Given the description of an element on the screen output the (x, y) to click on. 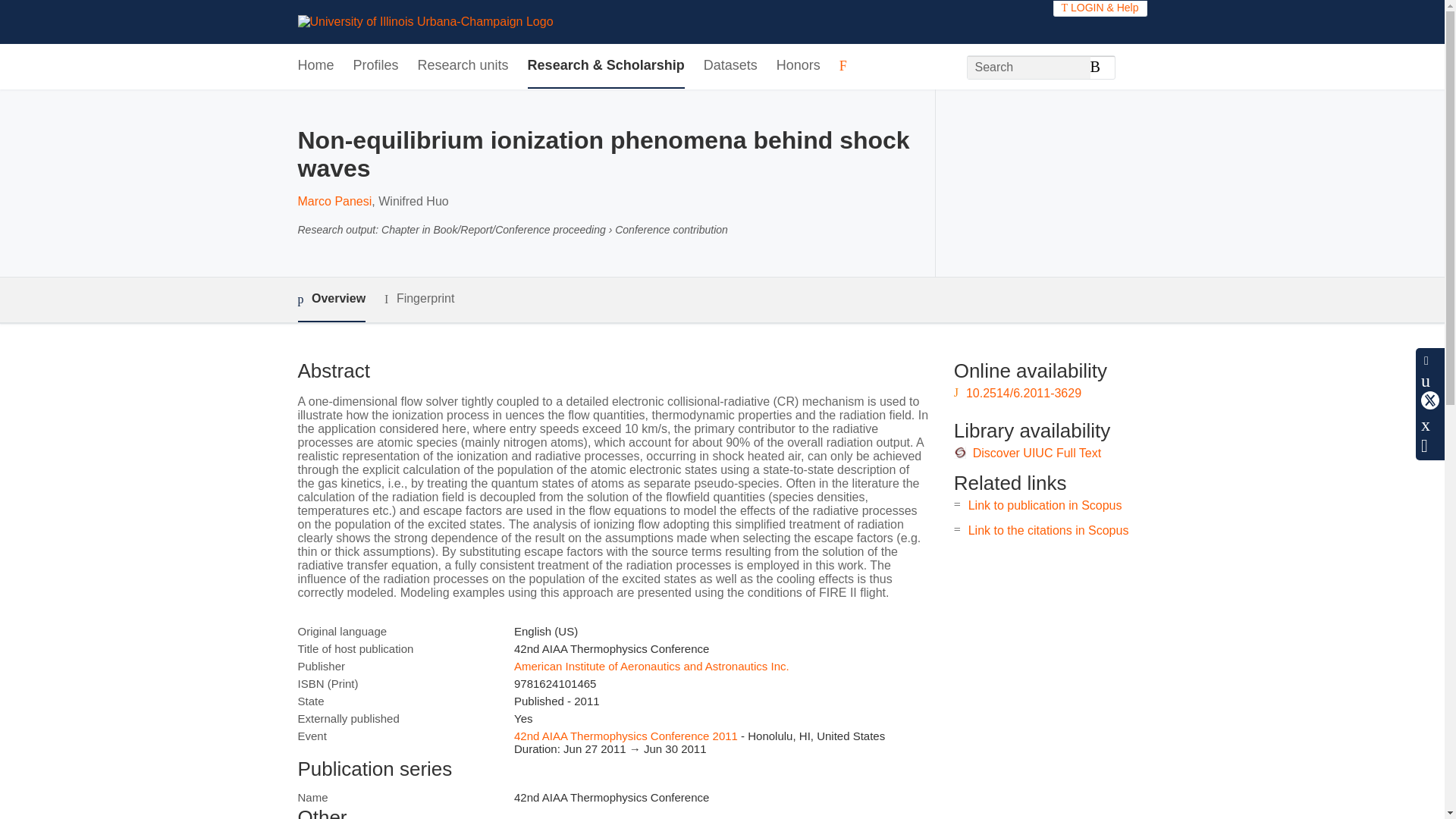
Link to publication in Scopus (1045, 504)
Link to the citations in Scopus (1048, 530)
Discover UIUC Full Text (1037, 452)
Honors (798, 66)
42nd AIAA Thermophysics Conference 2011 (625, 735)
American Institute of Aeronautics and Astronautics Inc. (651, 666)
Marco Panesi (334, 201)
Fingerprint (419, 299)
Profiles (375, 66)
